Given the description of an element on the screen output the (x, y) to click on. 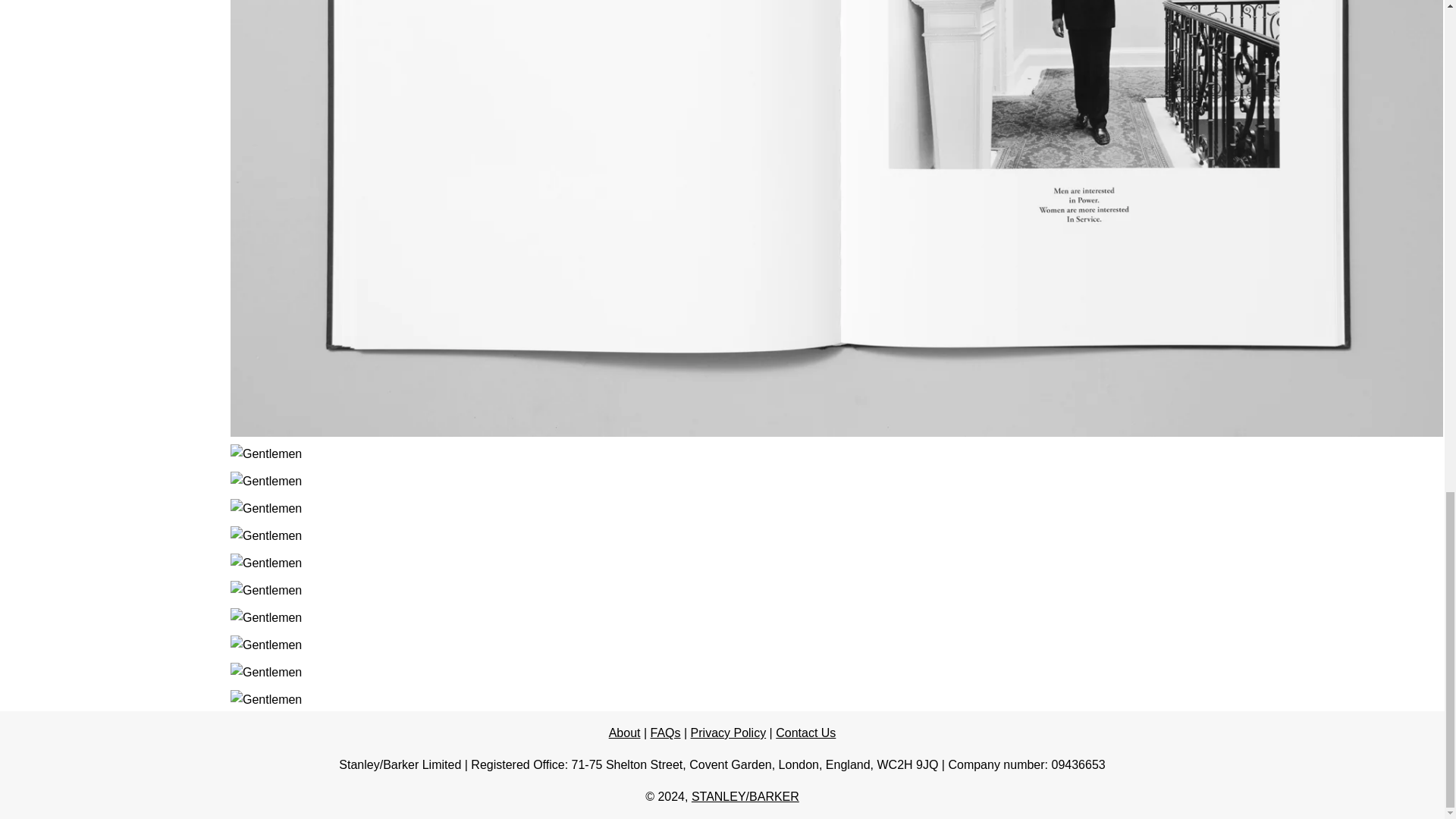
Contact Us (805, 732)
About (624, 732)
FAQs (665, 732)
Privacy Policy (728, 732)
